Given the description of an element on the screen output the (x, y) to click on. 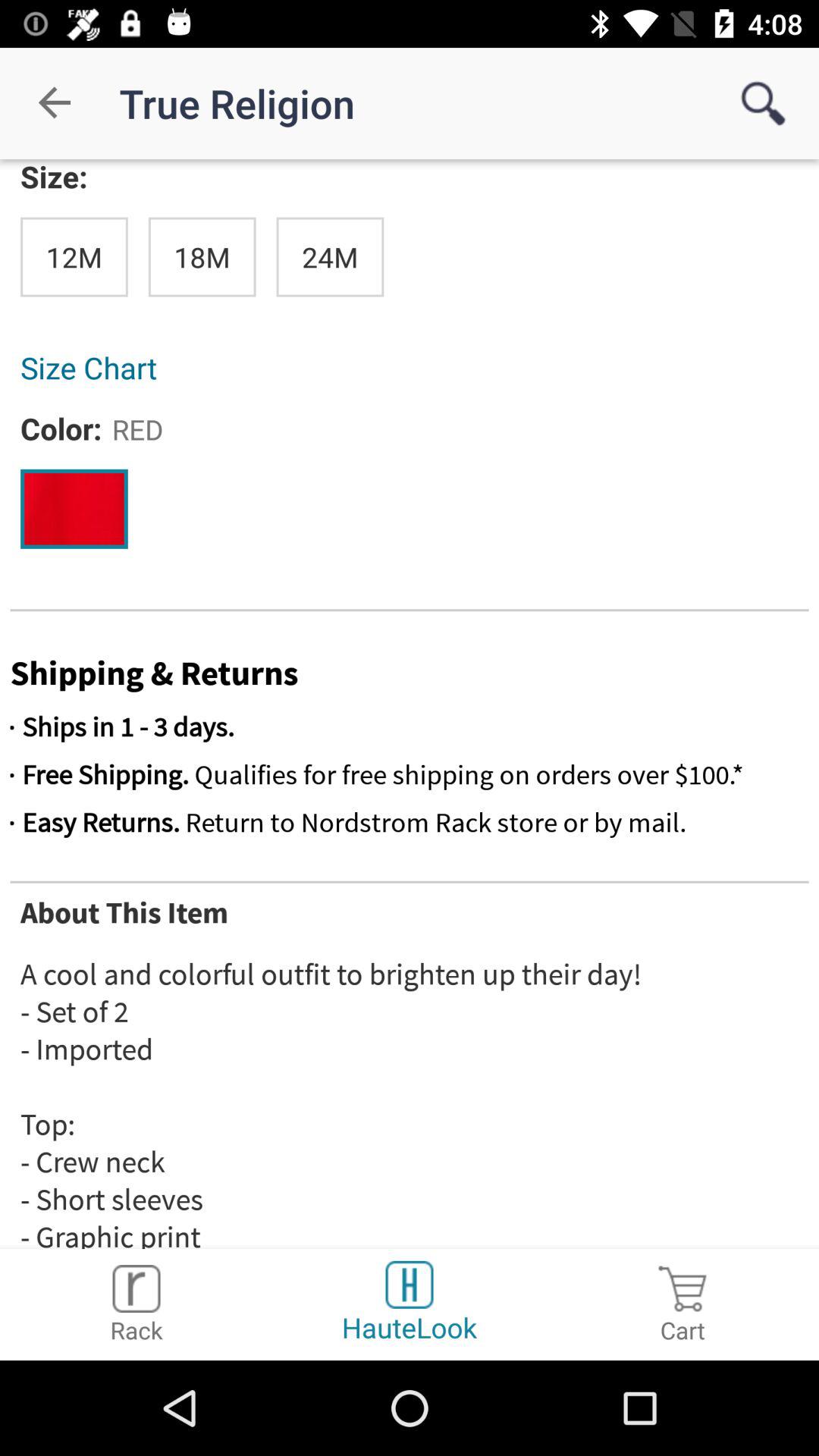
launch the item above the size chart (73, 256)
